Given the description of an element on the screen output the (x, y) to click on. 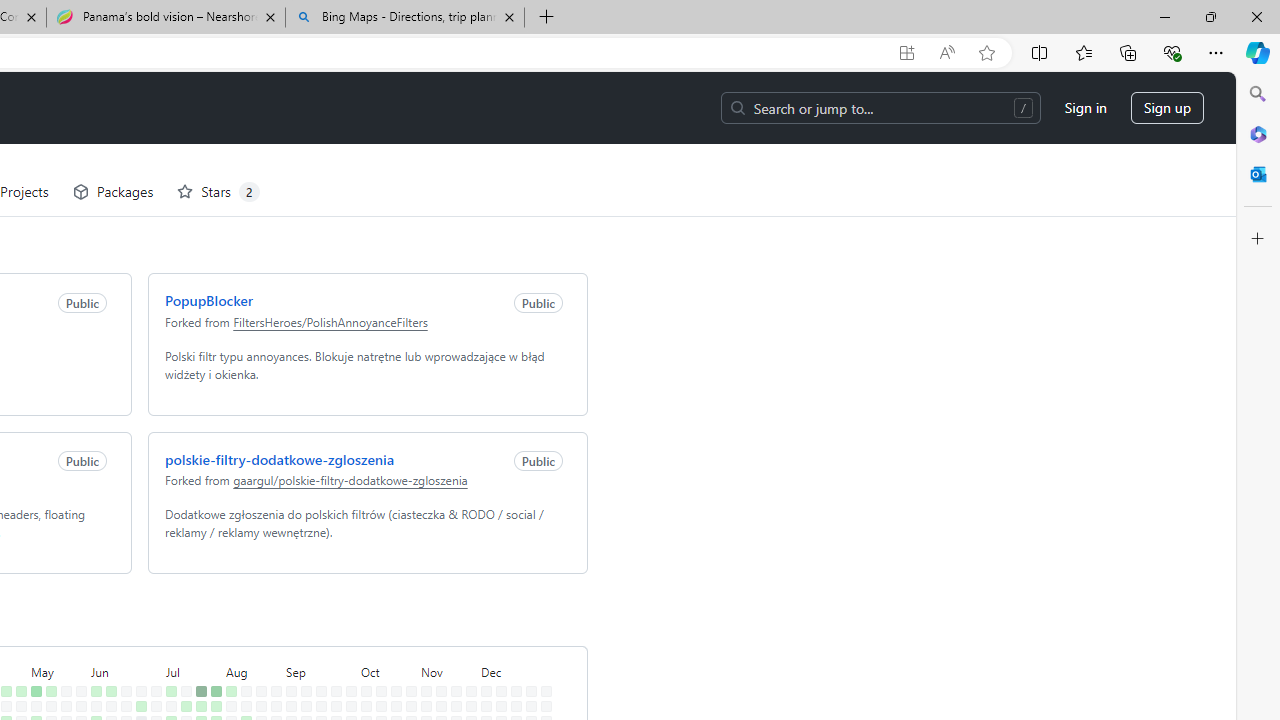
No contributions on November 7th. (422, 678)
No contributions on May 2nd. (17, 678)
6 contributions on June 21st. (122, 694)
No contributions on September 11th. (302, 664)
No contributions on October 6th. (362, 619)
No contributions on July 12th. (167, 694)
No contributions on September 23rd. (331, 634)
No contributions on June 12th. (107, 664)
No contributions on July 18th. (182, 678)
No contributions on May 6th. (32, 634)
1 contribution on August 15th. (242, 678)
1 contribution on July 23rd. (197, 649)
No contributions on August 14th. (242, 664)
No contributions on December 3rd. (482, 649)
No contributions on December 16th. (512, 634)
